Given the description of an element on the screen output the (x, y) to click on. 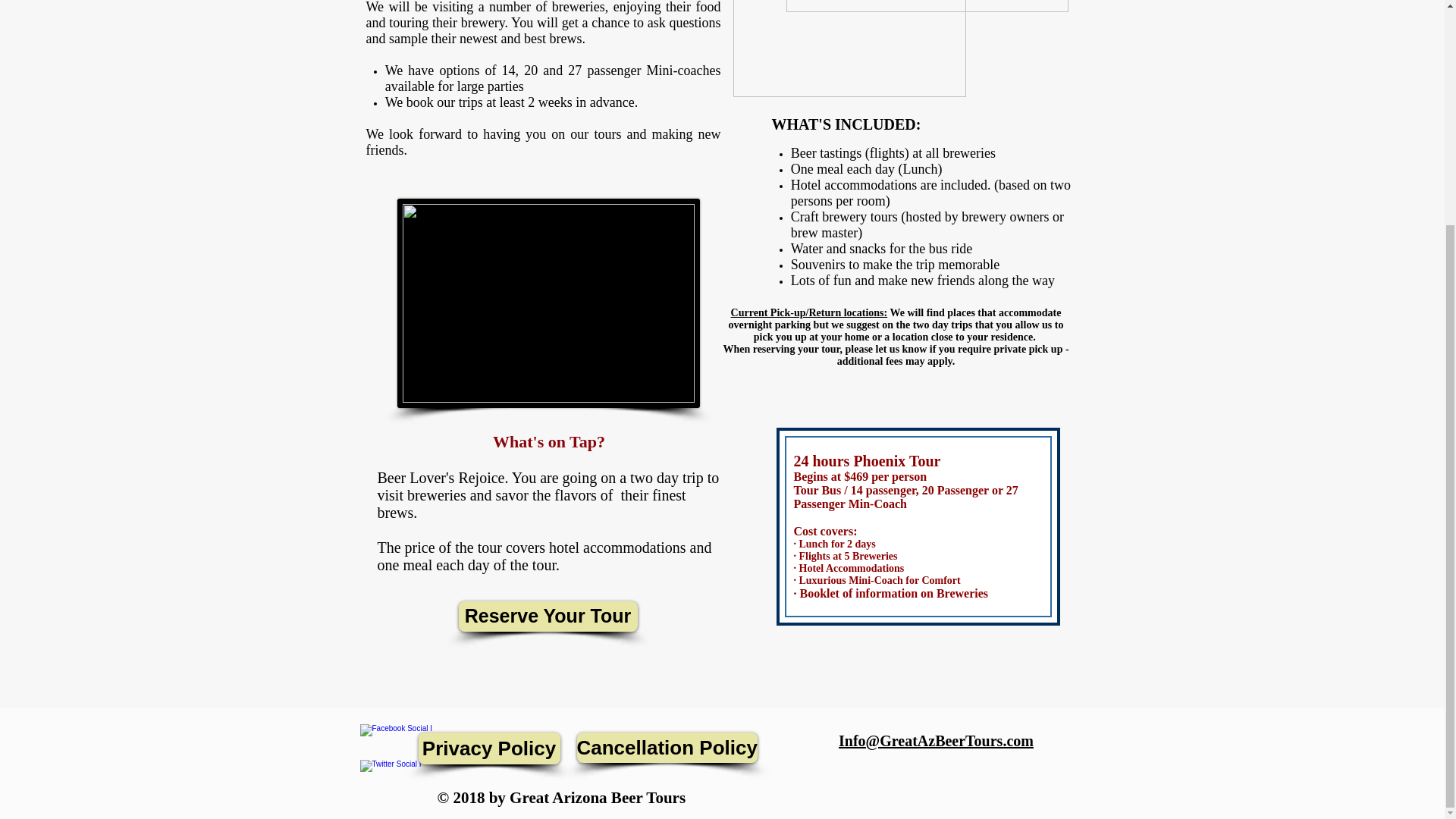
Privacy Policy (489, 748)
Cancellation Policy (666, 747)
Reserve Your Tour (547, 616)
